Given the description of an element on the screen output the (x, y) to click on. 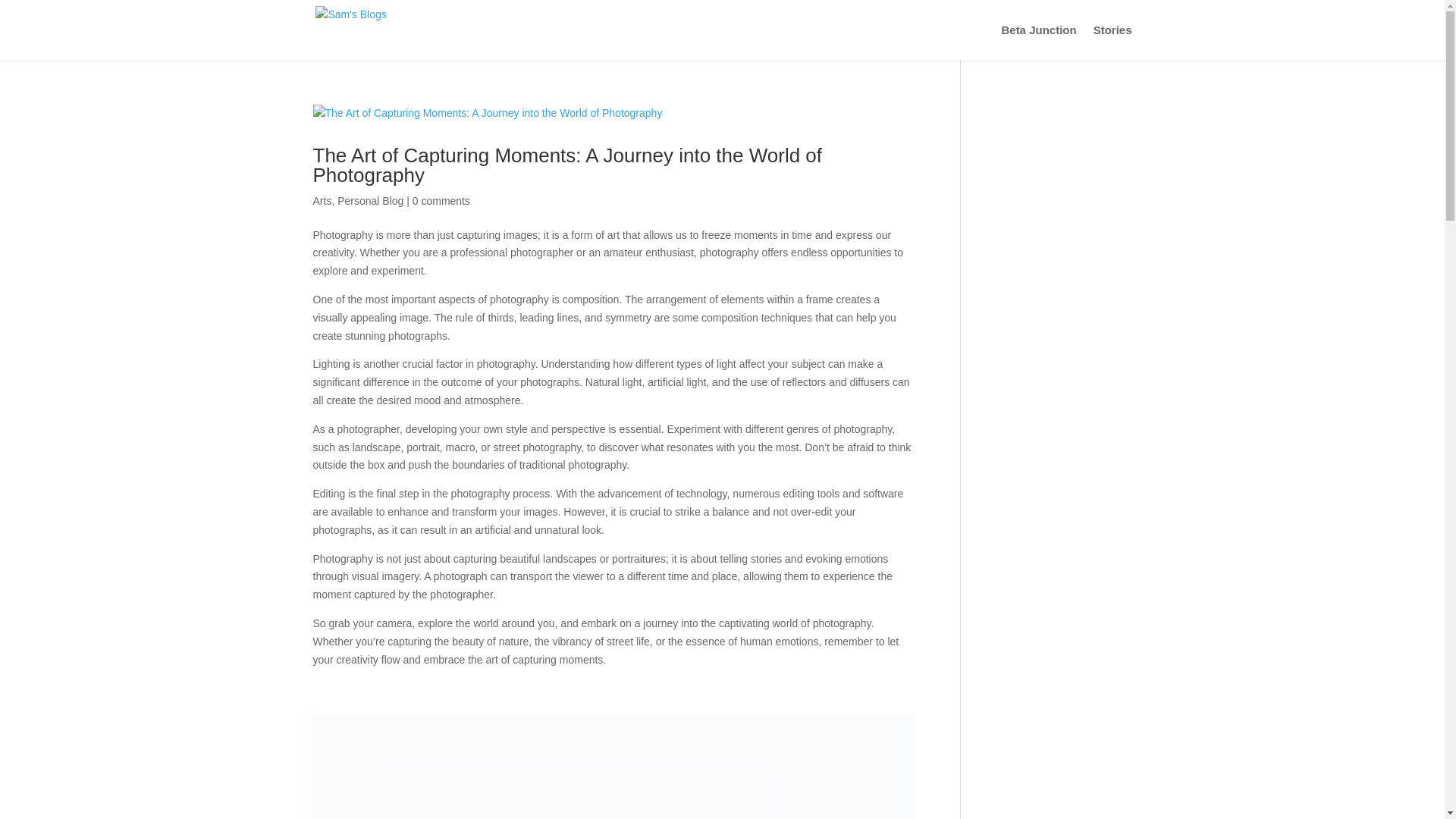
0 comments (441, 200)
Personal Blog (370, 200)
Beta Junction (1038, 42)
Stories (1112, 42)
Arts (322, 200)
